Given the description of an element on the screen output the (x, y) to click on. 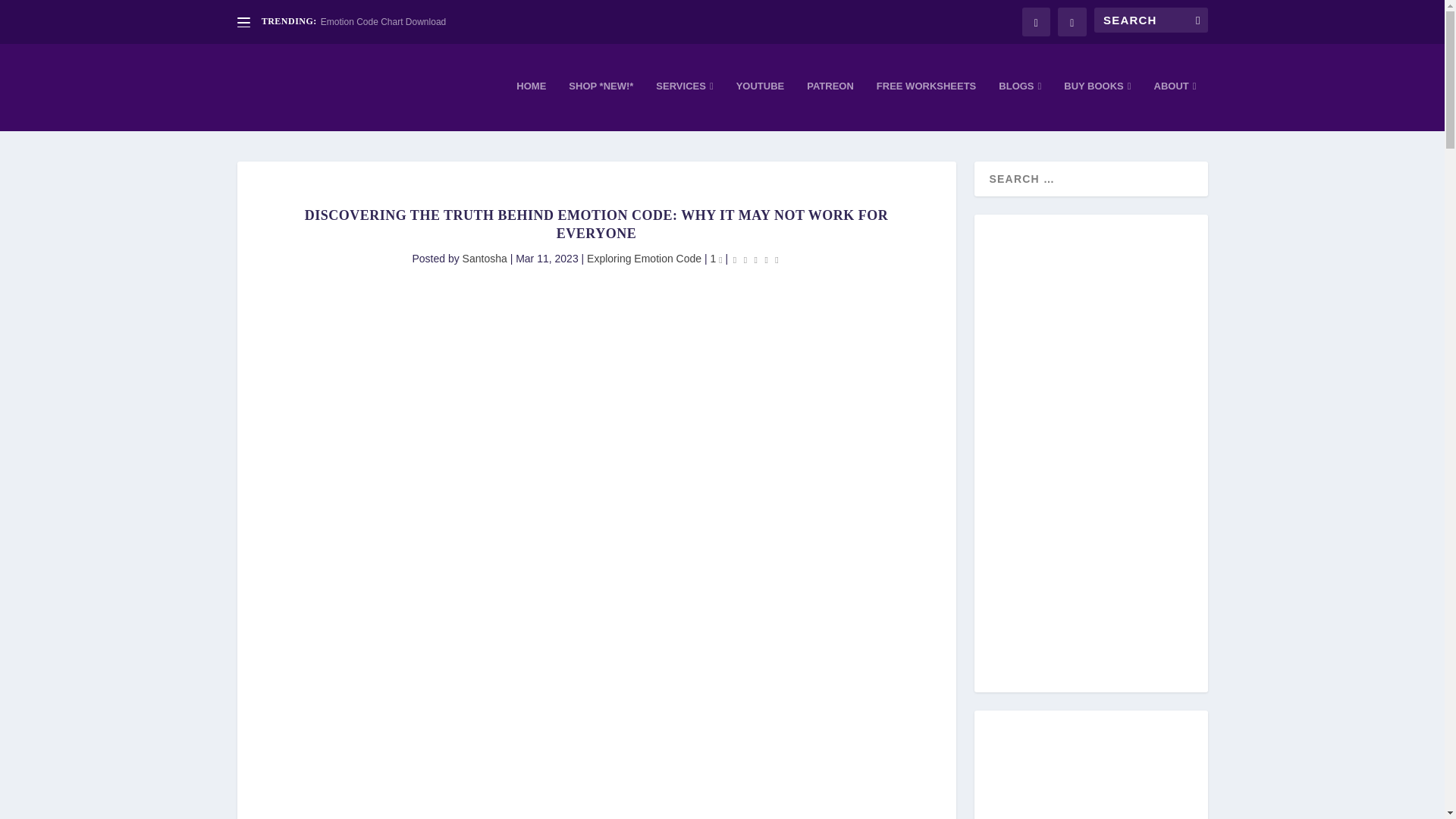
SERVICES (684, 105)
BUY BOOKS (1097, 105)
PATREON (829, 105)
Posts by Santosha (484, 258)
Santosha (484, 258)
Exploring Emotion Code (643, 258)
YOUTUBE (760, 105)
Search for: (1150, 19)
FREE WORKSHEETS (925, 105)
Rating: 0.00 (755, 259)
